Given the description of an element on the screen output the (x, y) to click on. 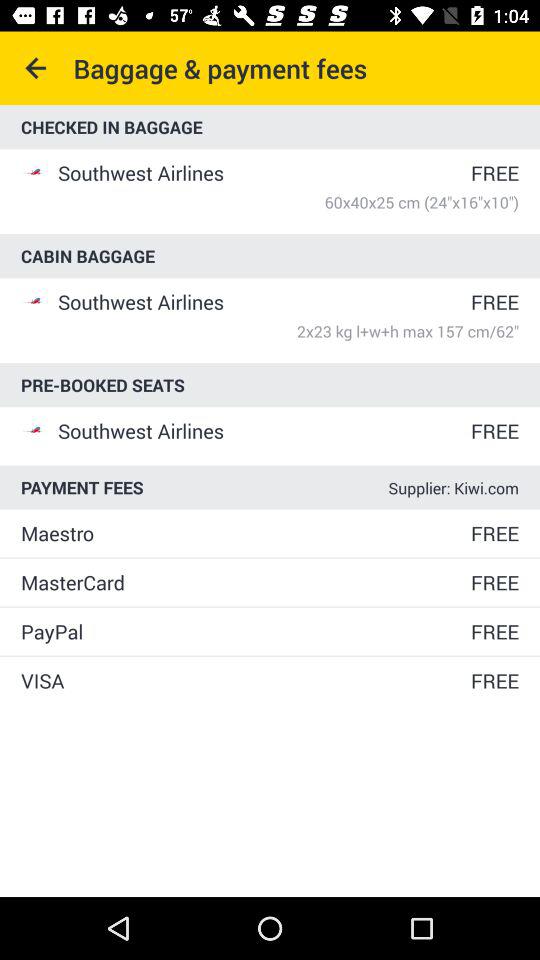
turn off the 60x40x25 cm 24 icon (288, 201)
